Given the description of an element on the screen output the (x, y) to click on. 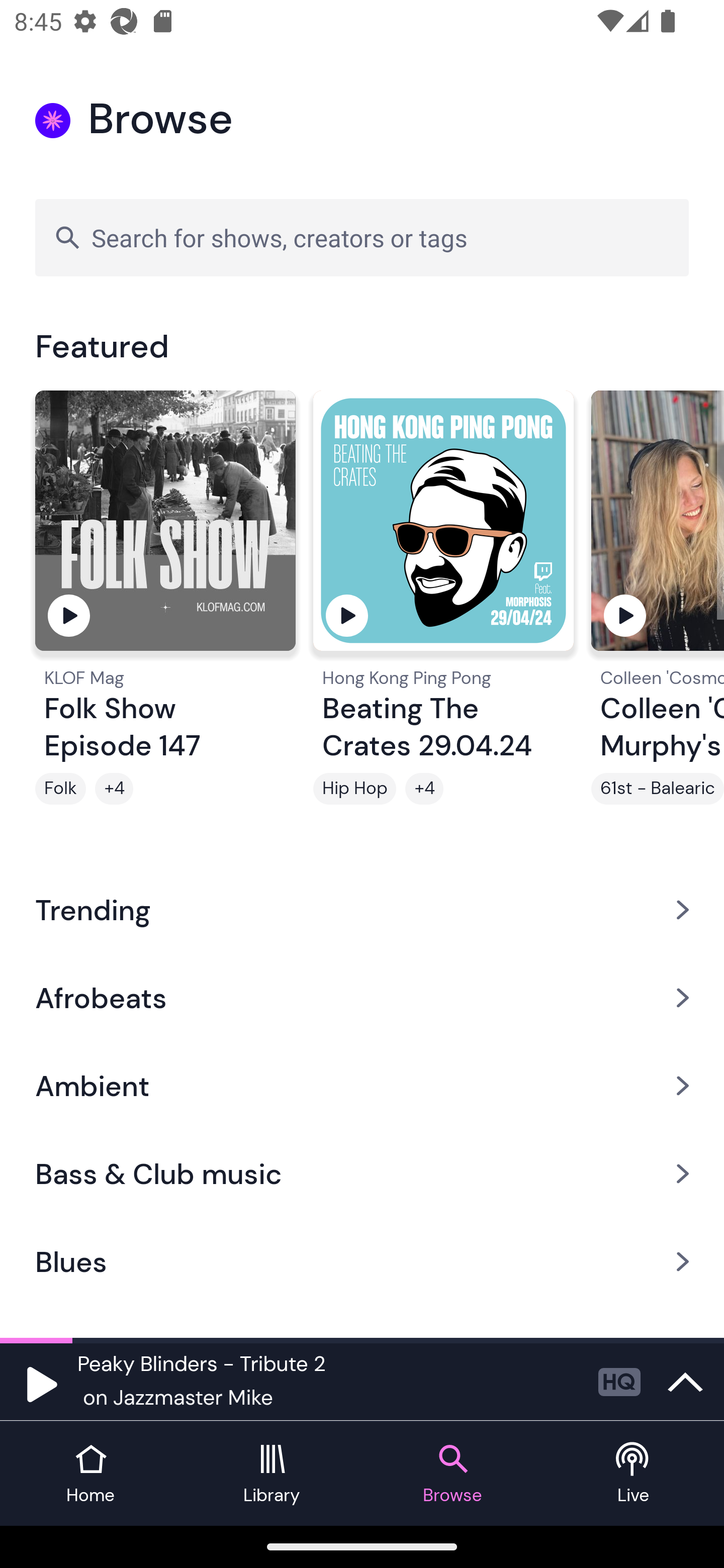
Search for shows, creators or tags (361, 237)
Folk (60, 788)
Hip Hop (354, 788)
61st - Balearic (657, 788)
Trending (361, 909)
Afrobeats (361, 997)
Ambient (361, 1085)
Bass & Club music (361, 1174)
Blues (361, 1262)
Home tab Home (90, 1473)
Library tab Library (271, 1473)
Browse tab Browse (452, 1473)
Live tab Live (633, 1473)
